Given the description of an element on the screen output the (x, y) to click on. 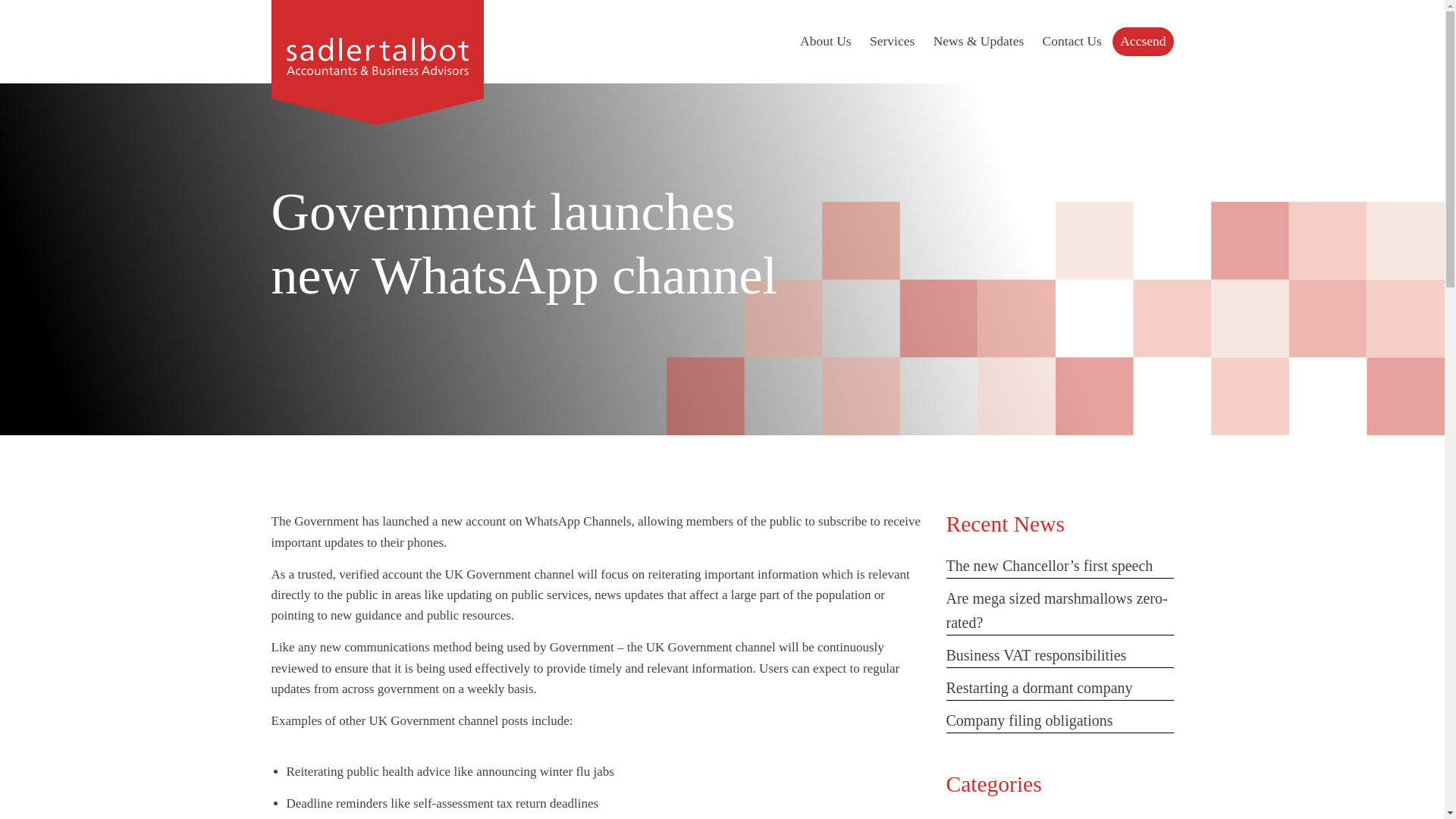
Accsend (1142, 41)
Business VAT responsibilities (1036, 655)
Contact Us (1072, 41)
Restarting a dormant company (1039, 687)
Are mega sized marshmallows zero-rated? (1056, 609)
Blog (960, 817)
Company filing obligations (1029, 719)
